Given the description of an element on the screen output the (x, y) to click on. 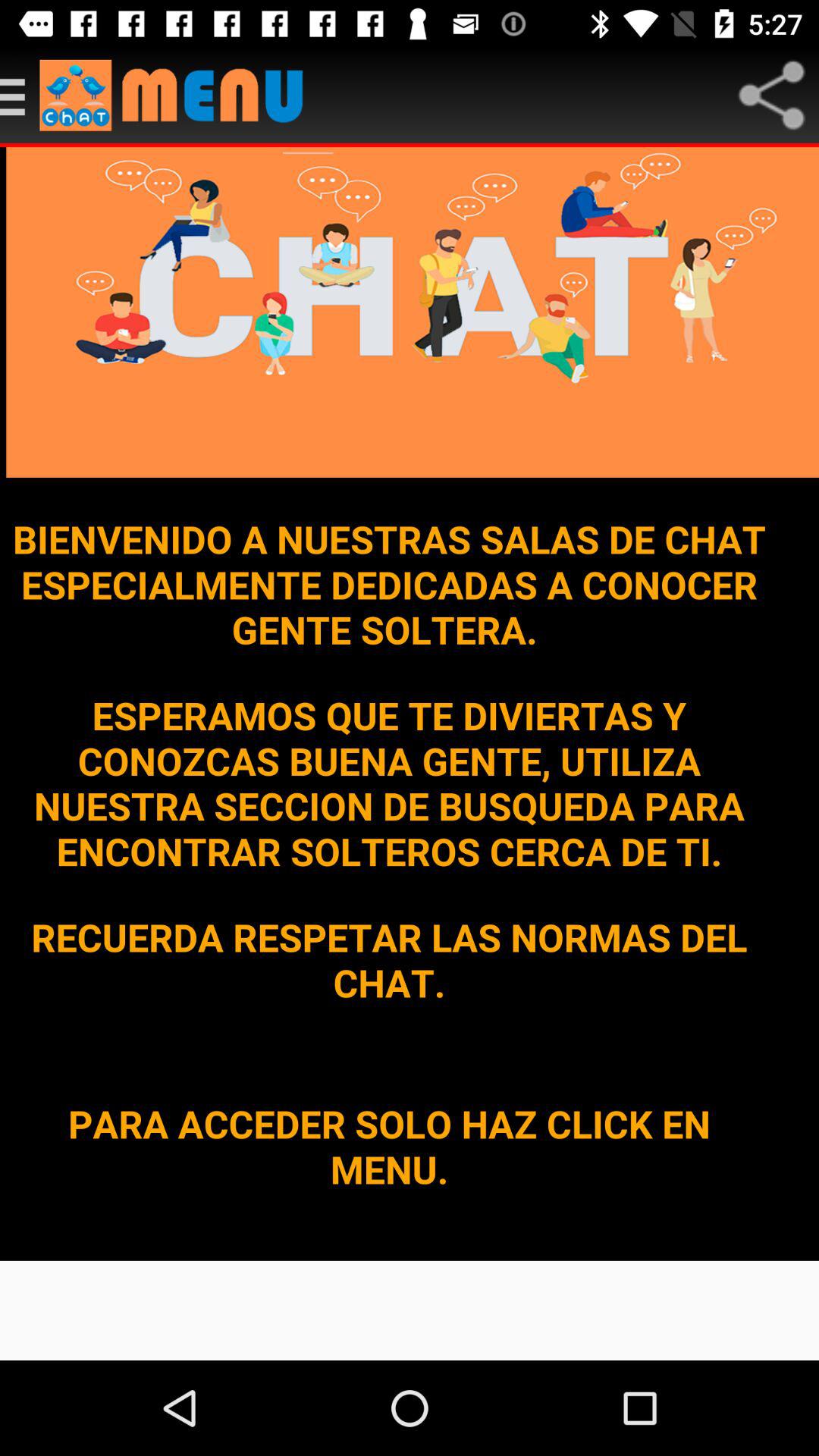
main menu (19, 95)
